Given the description of an element on the screen output the (x, y) to click on. 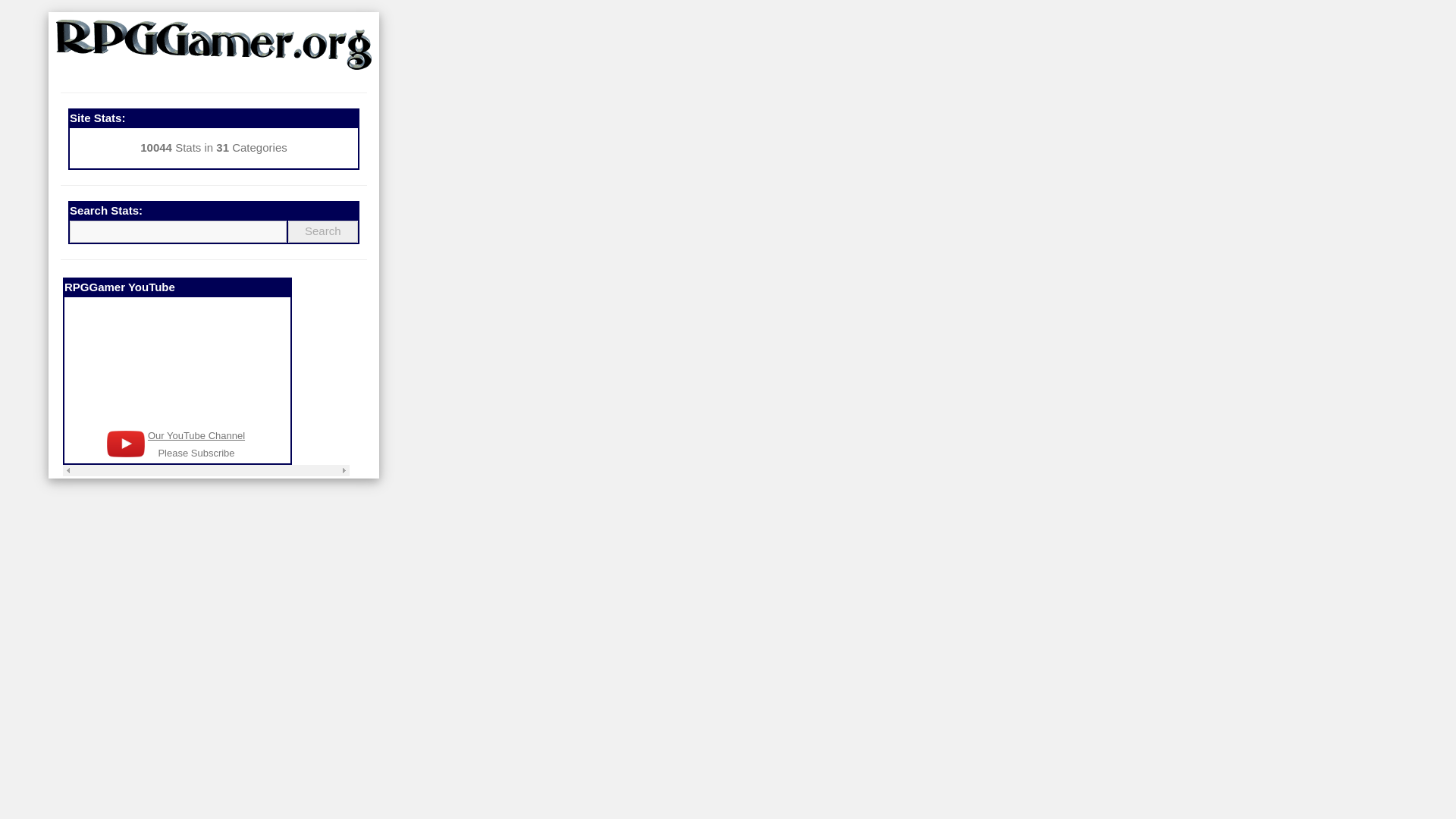
Search (323, 231)
Our YouTube Channel (196, 435)
Search (323, 231)
